Given the description of an element on the screen output the (x, y) to click on. 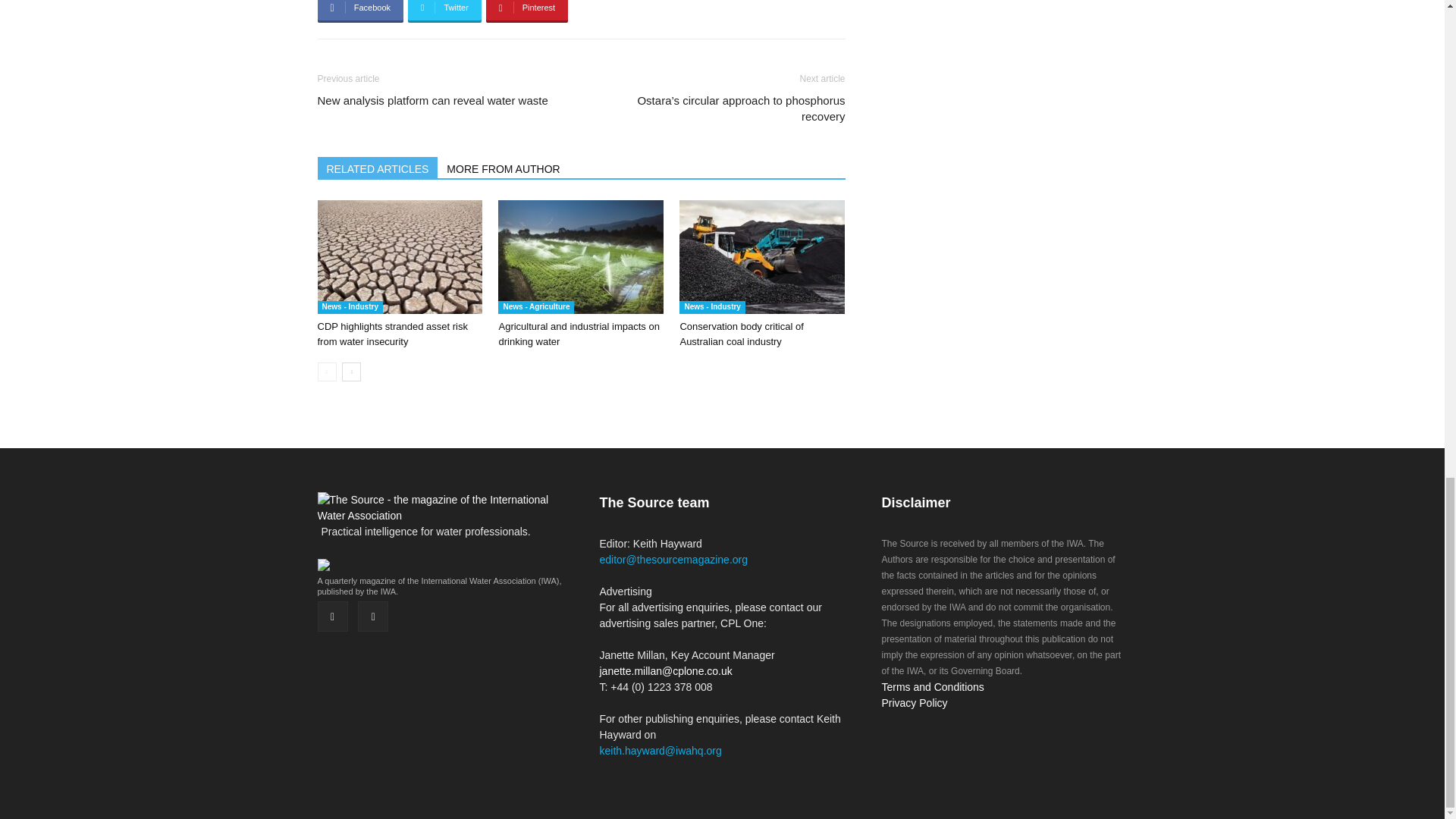
Agricultural and industrial impacts on drinking water (580, 256)
Agricultural and industrial impacts on drinking water (578, 334)
Conservation body critical of Australian coal industry (761, 256)
CDP highlights stranded asset risk from water insecurity (392, 334)
Conservation body critical of Australian coal industry (741, 334)
CDP highlights stranded asset risk from water insecurity (399, 256)
